Given the description of an element on the screen output the (x, y) to click on. 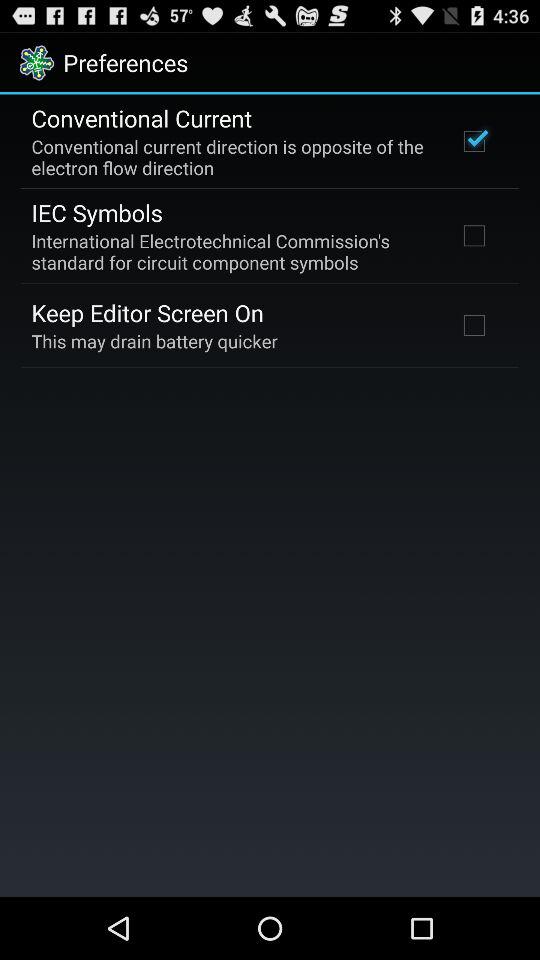
turn on the iec symbols item (96, 212)
